Given the description of an element on the screen output the (x, y) to click on. 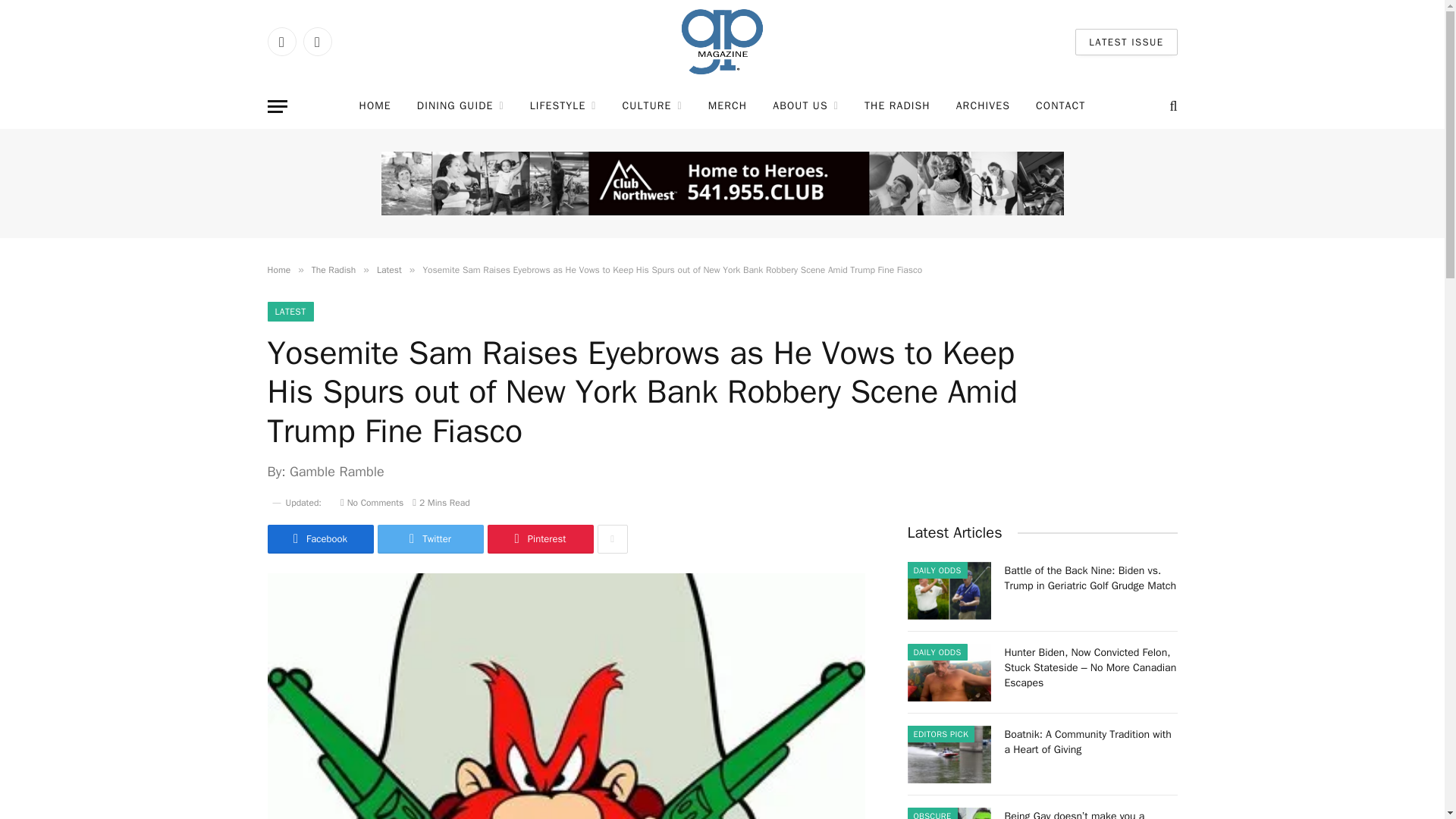
DINING GUIDE (460, 105)
Instagram (316, 41)
HOME (375, 105)
Share on Pinterest (539, 538)
CULTURE (652, 105)
MERCH (727, 105)
Share on Facebook (319, 538)
LIFESTYLE (563, 105)
grantspassmag.com (722, 41)
LATEST ISSUE (1125, 41)
